Given the description of an element on the screen output the (x, y) to click on. 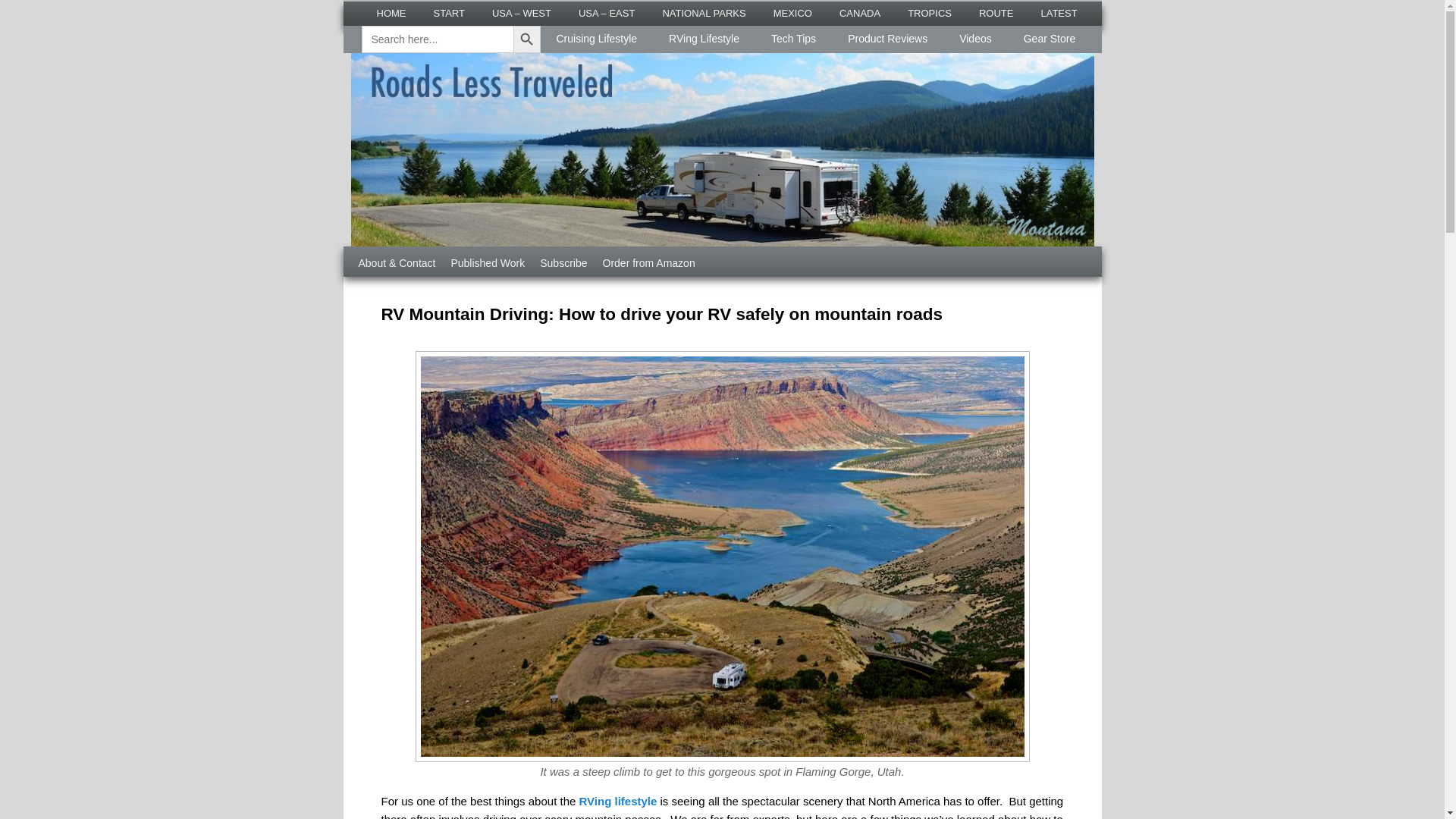
NATIONAL PARKS (702, 13)
Starting Points on this Website! (449, 13)
HOME (390, 13)
Home page. (390, 13)
START (449, 13)
MEXICO (792, 13)
RV travel in the Western USA (521, 13)
